Given the description of an element on the screen output the (x, y) to click on. 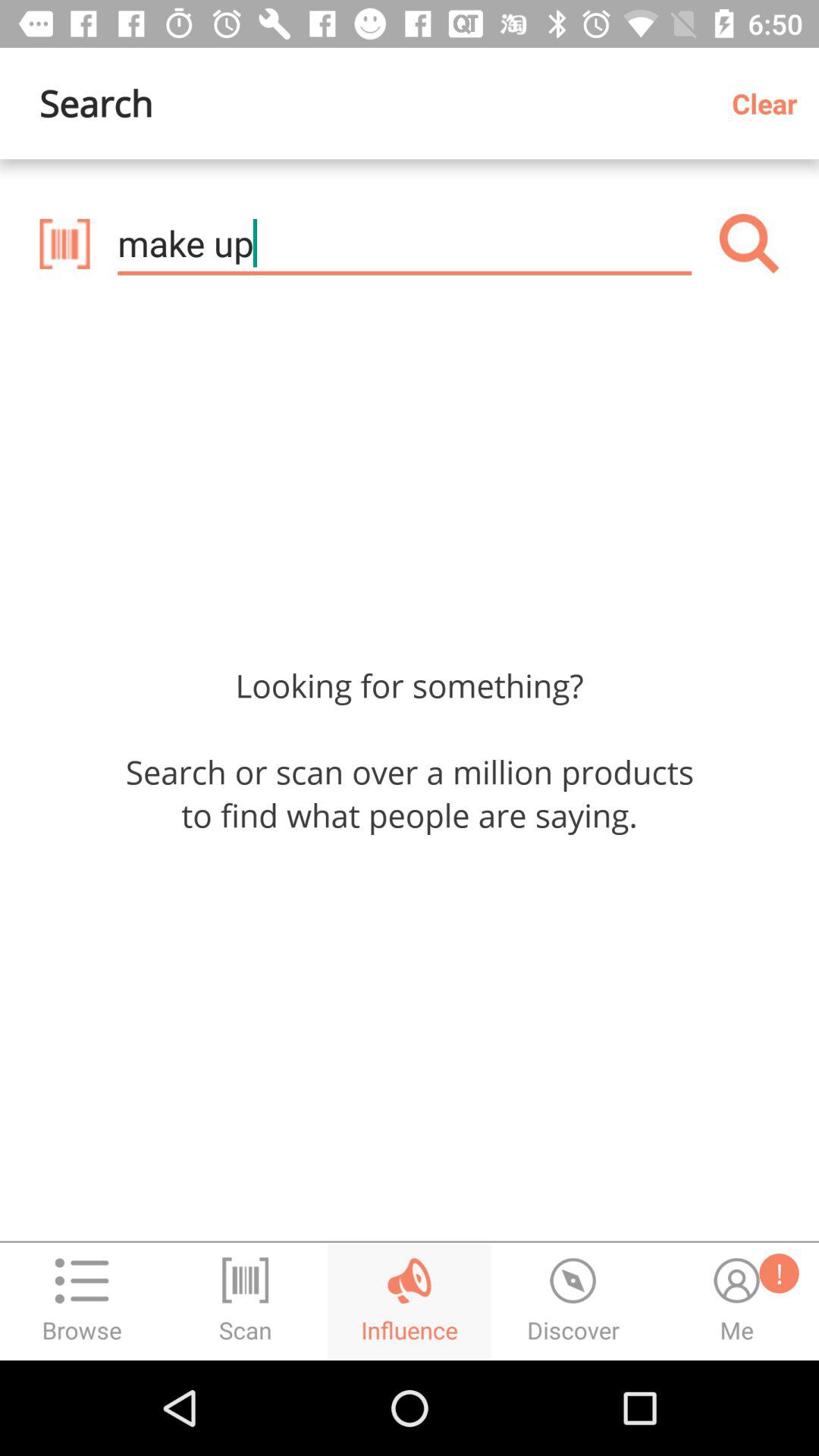
search (749, 243)
